Given the description of an element on the screen output the (x, y) to click on. 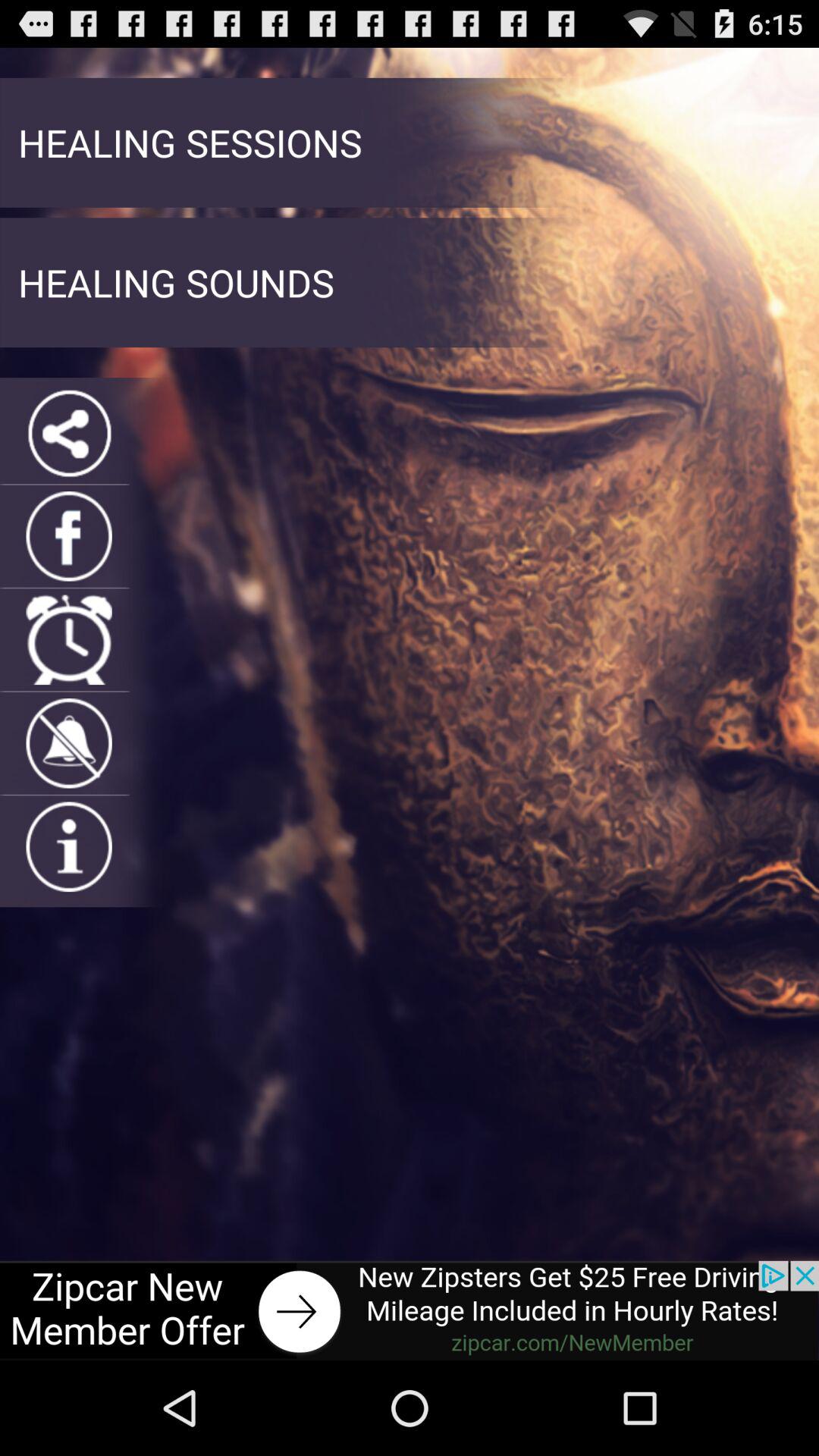
set alarm (69, 639)
